Given the description of an element on the screen output the (x, y) to click on. 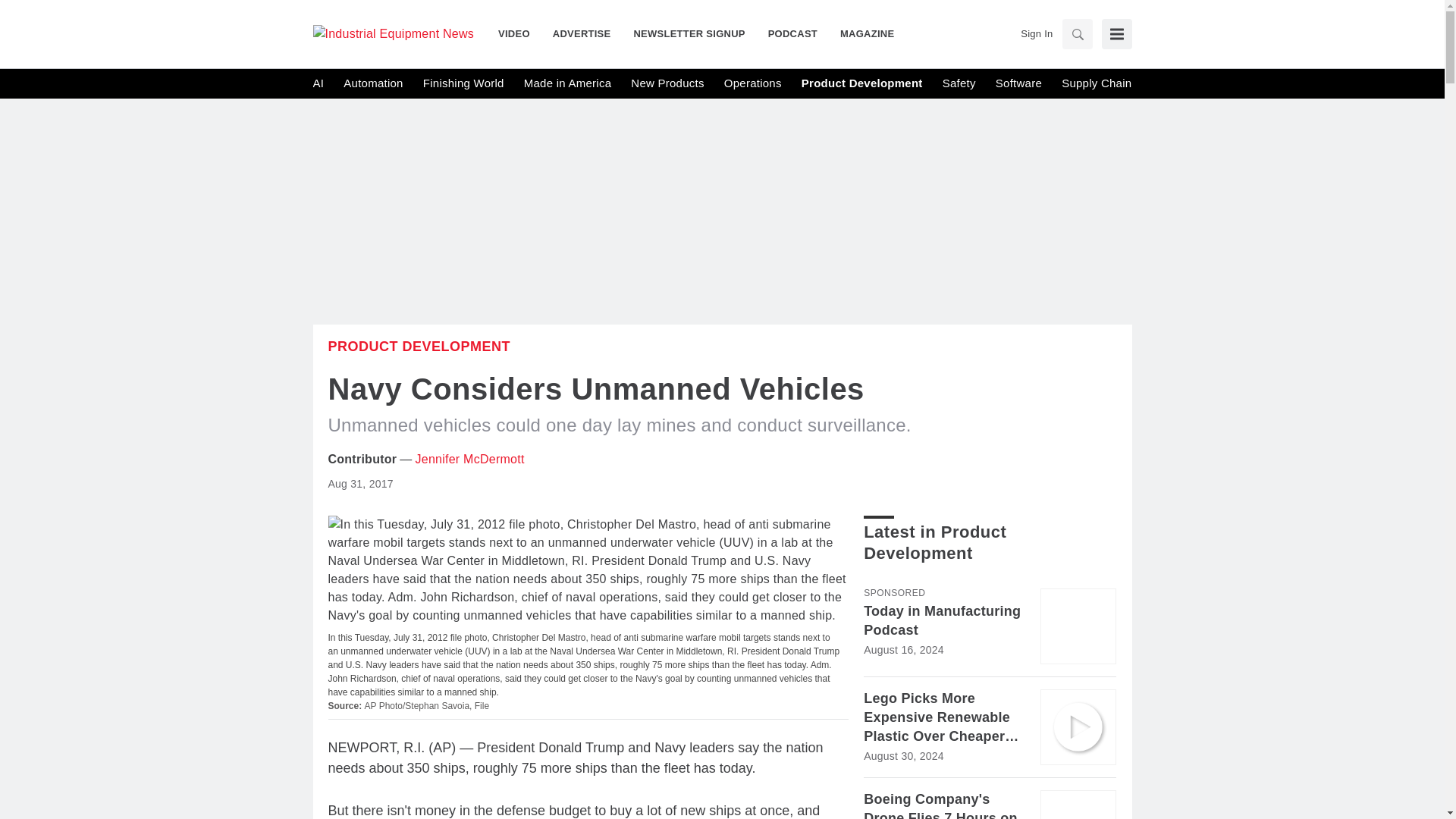
Software (1018, 83)
Sign In (1036, 33)
Product Development (862, 83)
Sponsored (893, 592)
Operations (752, 83)
Product Development (419, 346)
Supply Chain (1096, 83)
NEWSLETTER SIGNUP (688, 33)
Made in America (567, 83)
Automation (373, 83)
